Given the description of an element on the screen output the (x, y) to click on. 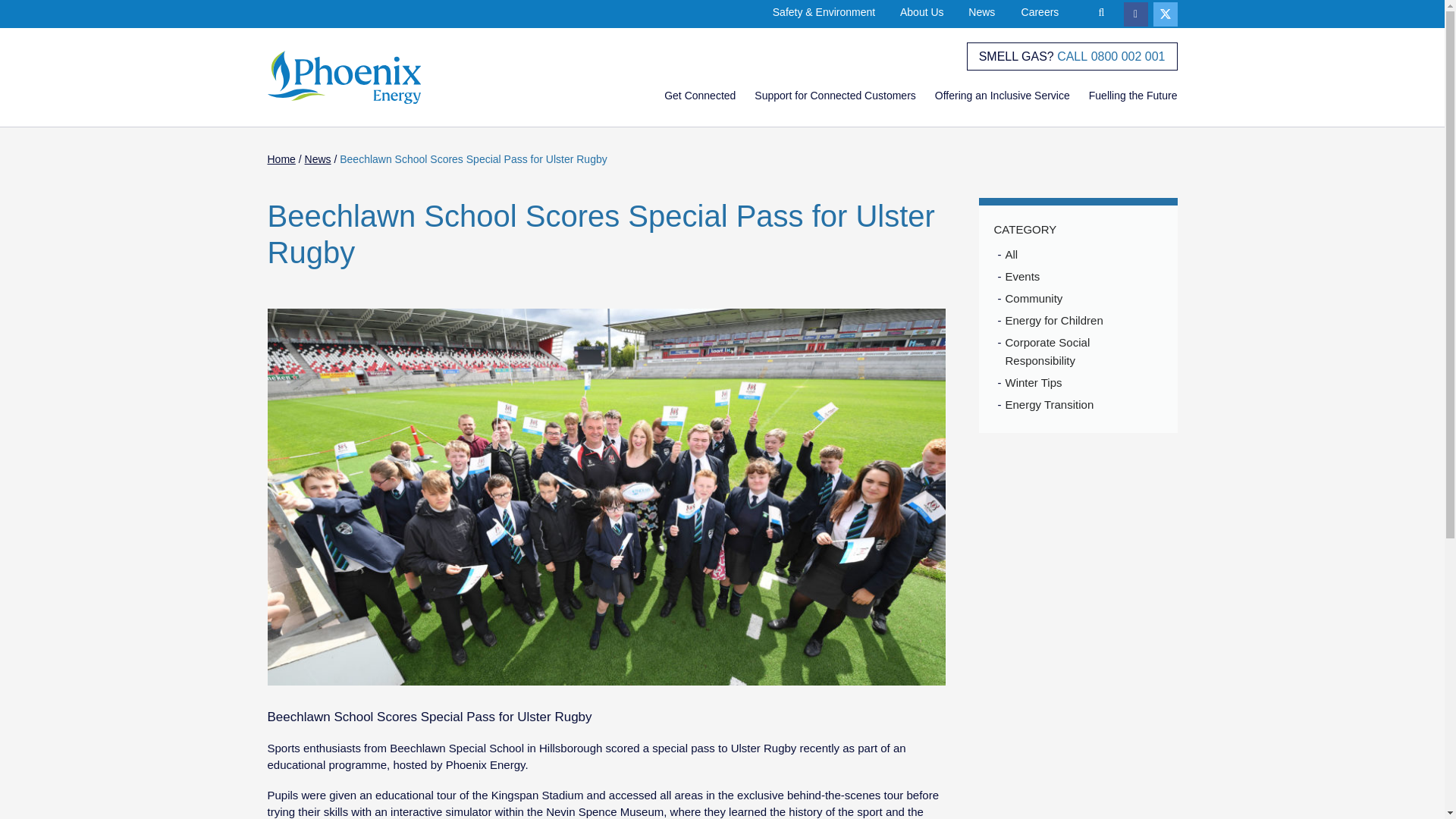
Go to Homepage (372, 77)
X Url (1164, 13)
Get Connected (699, 95)
News (981, 12)
Facebook (1136, 13)
Careers (1040, 12)
0800 002 001 (1128, 56)
Support for Connected Customers (834, 95)
About Us (921, 12)
